Given the description of an element on the screen output the (x, y) to click on. 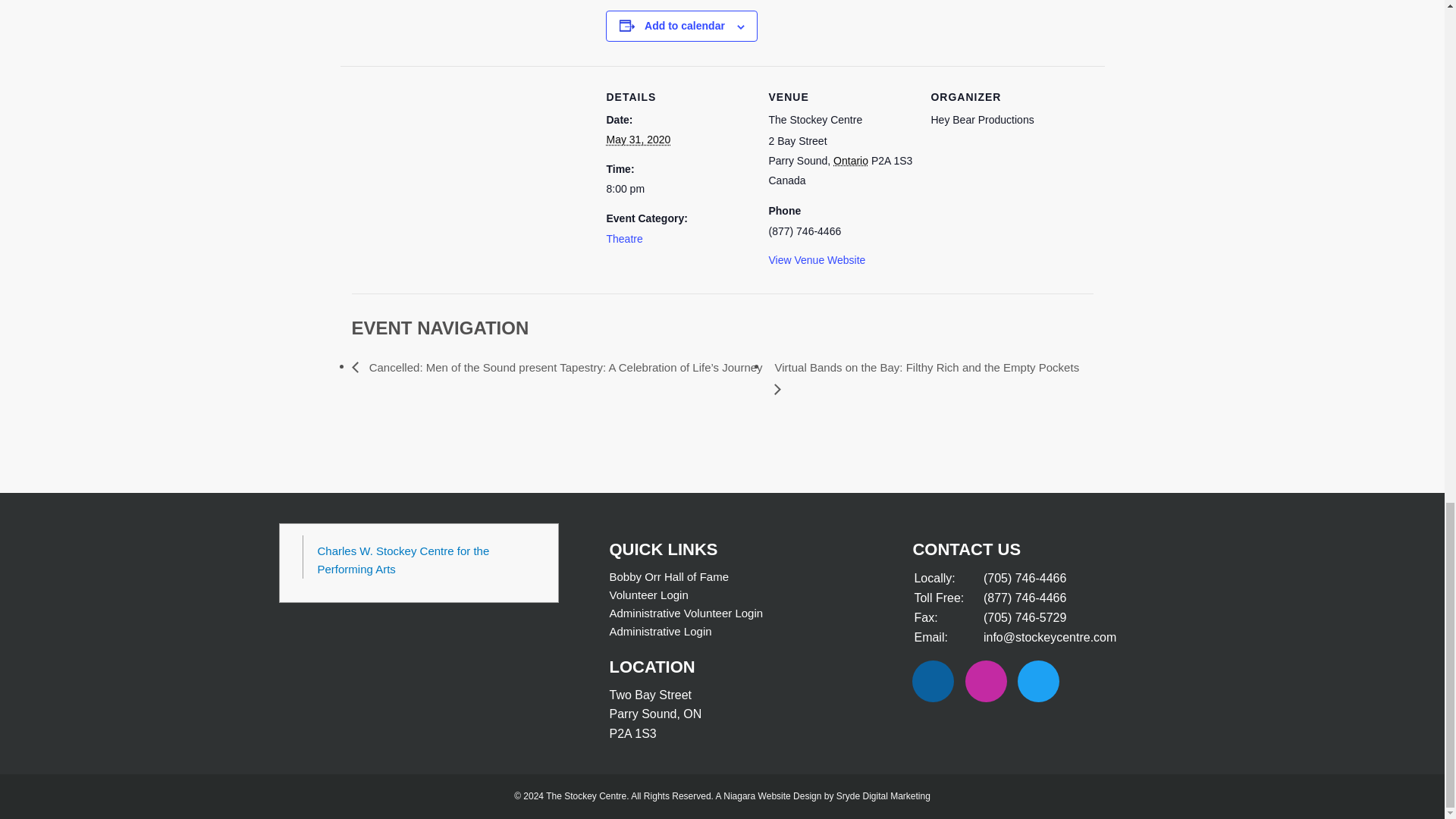
2020-05-31 (637, 139)
2020-05-31 (677, 188)
Ontario (849, 160)
